Given the description of an element on the screen output the (x, y) to click on. 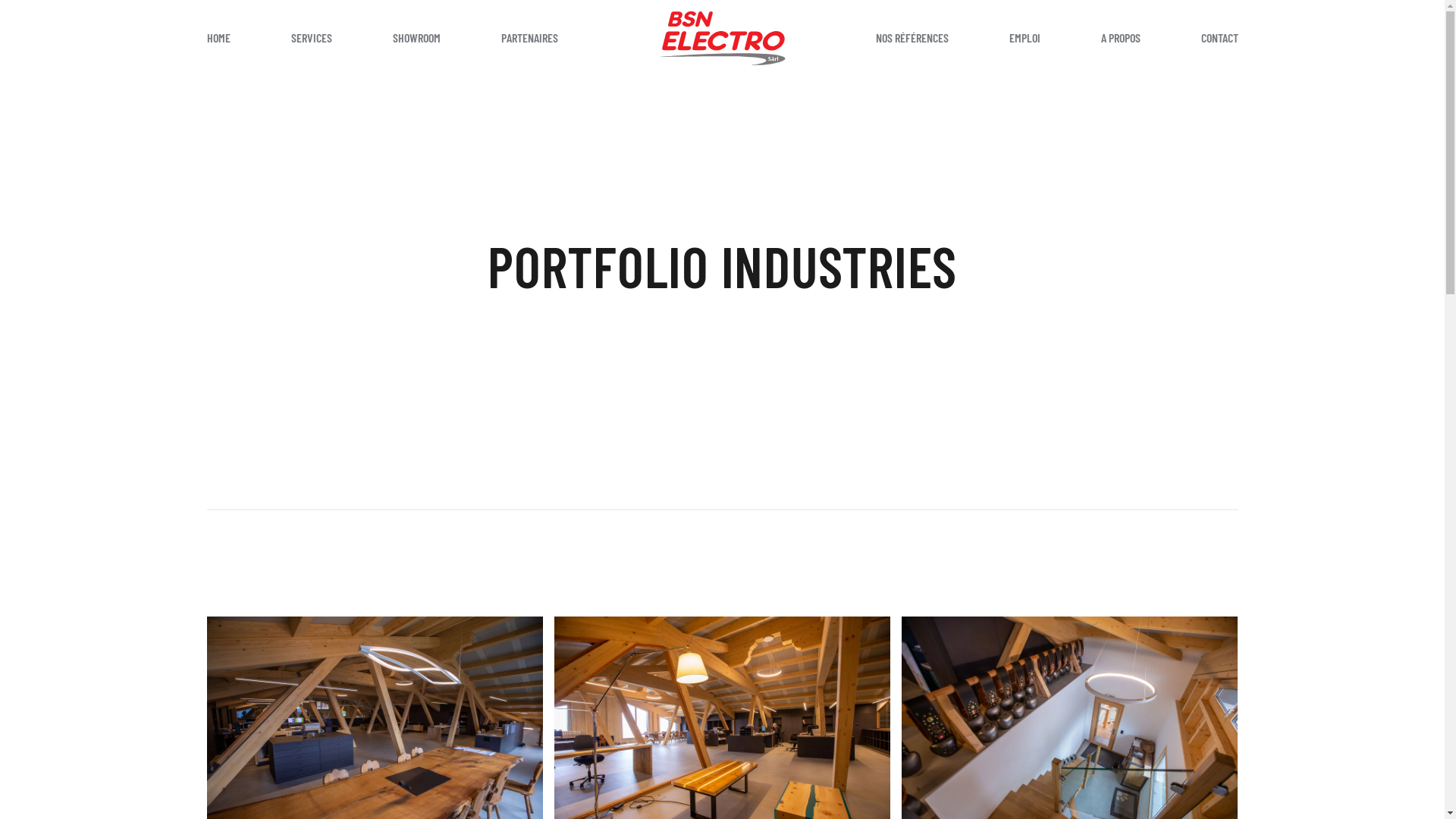
CONTACT Element type: text (1219, 37)
SERVICES Element type: text (311, 37)
EMPLOI Element type: text (1024, 37)
SHOWROOM Element type: text (416, 37)
PARTENAIRES Element type: text (528, 37)
A PROPOS Element type: text (1120, 37)
HOME Element type: text (217, 37)
